Given the description of an element on the screen output the (x, y) to click on. 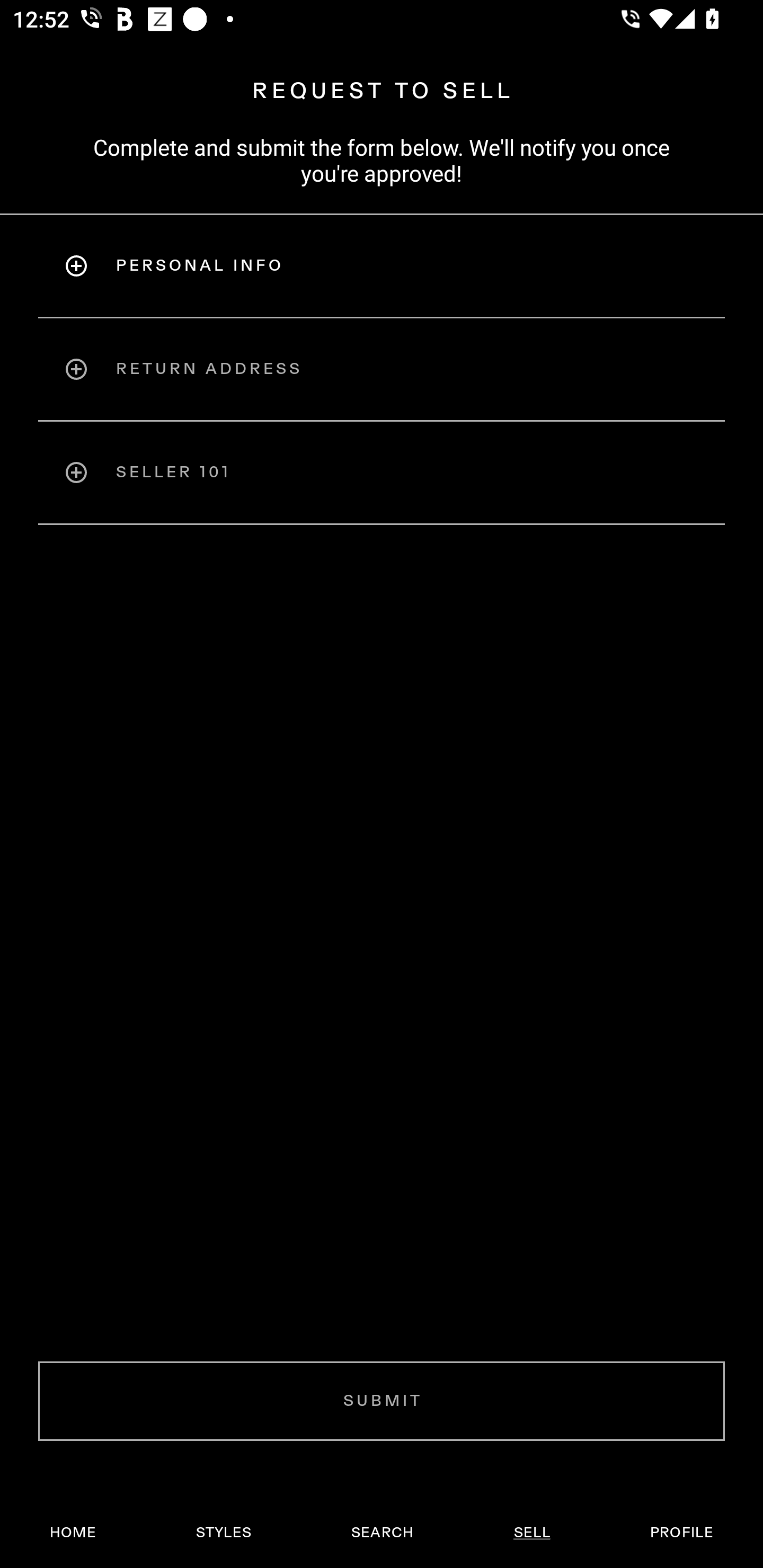
PERSONAL INFO (381, 265)
RETURN ADDRESS (381, 369)
SELLER 101 (381, 472)
SUBMIT (381, 1400)
HOME (72, 1532)
STYLES (222, 1532)
SEARCH (381, 1532)
SELL (531, 1532)
PROFILE (681, 1532)
